Given the description of an element on the screen output the (x, y) to click on. 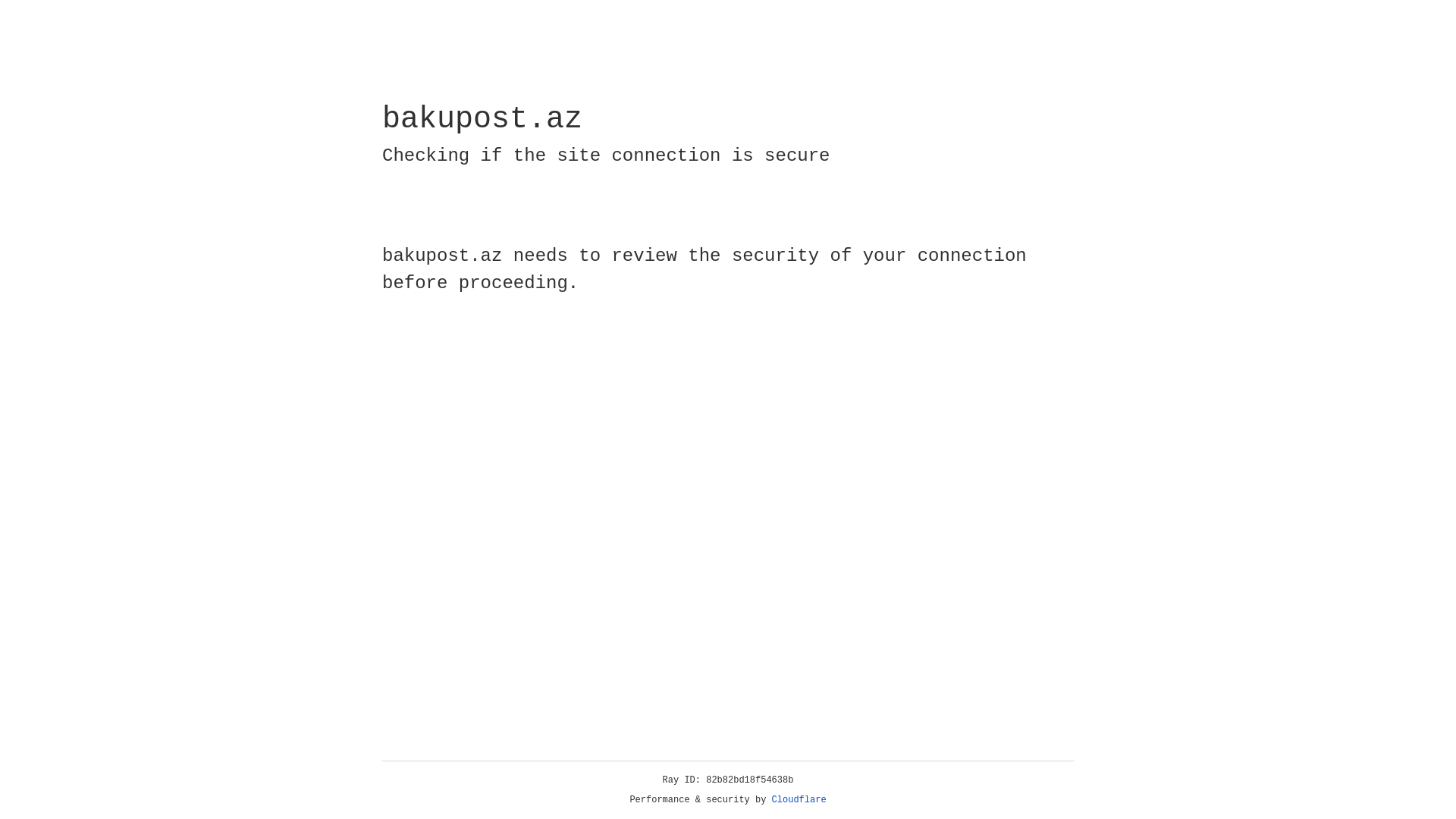
Cloudflare Element type: text (798, 799)
